Given the description of an element on the screen output the (x, y) to click on. 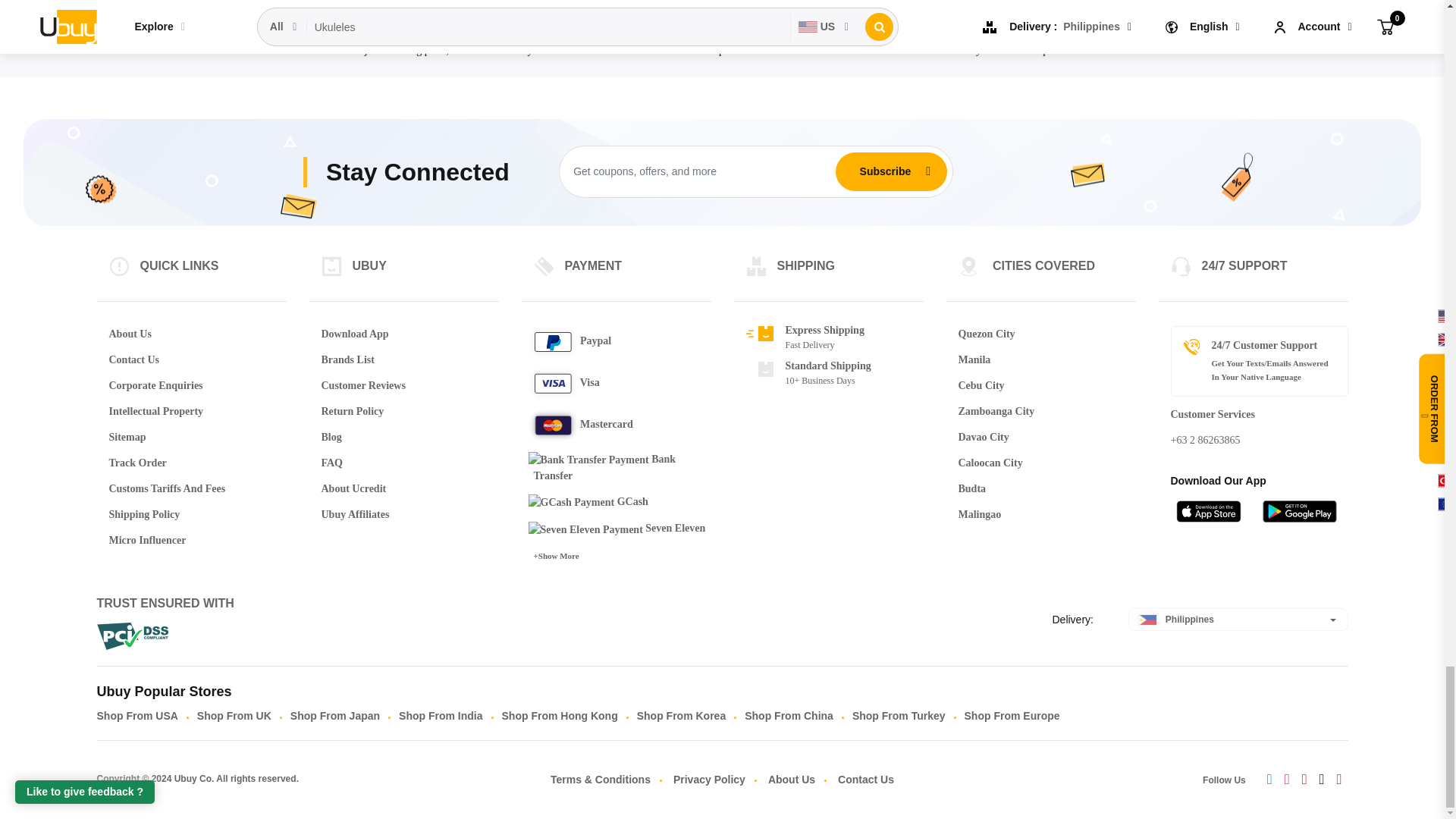
Subscribe (885, 171)
